Given the description of an element on the screen output the (x, y) to click on. 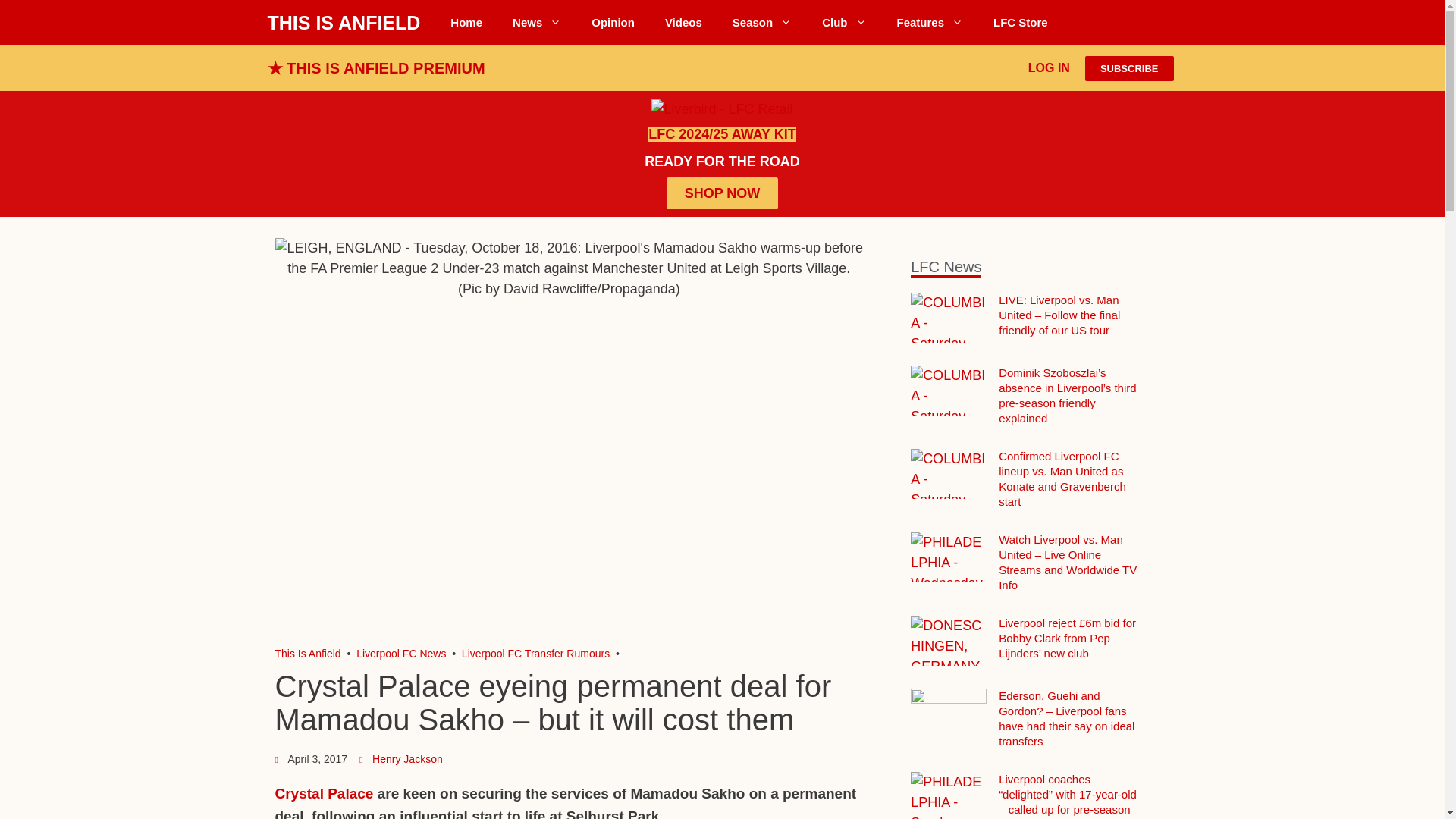
Liverpool FC Opinion (612, 22)
Liverpool FC News (536, 22)
Liverpool FC (307, 653)
Opinion (612, 22)
Club (843, 22)
Videos (683, 22)
Liverpool FC Videos (683, 22)
News (536, 22)
Features (929, 22)
THIS IS ANFIELD (343, 22)
Season (761, 22)
Go to the Liverpool FC Transfer Rumours category archives. (535, 653)
Liverpool FC Features (929, 22)
Home (466, 22)
Go to the Liverpool FC News category archives. (400, 653)
